Given the description of an element on the screen output the (x, y) to click on. 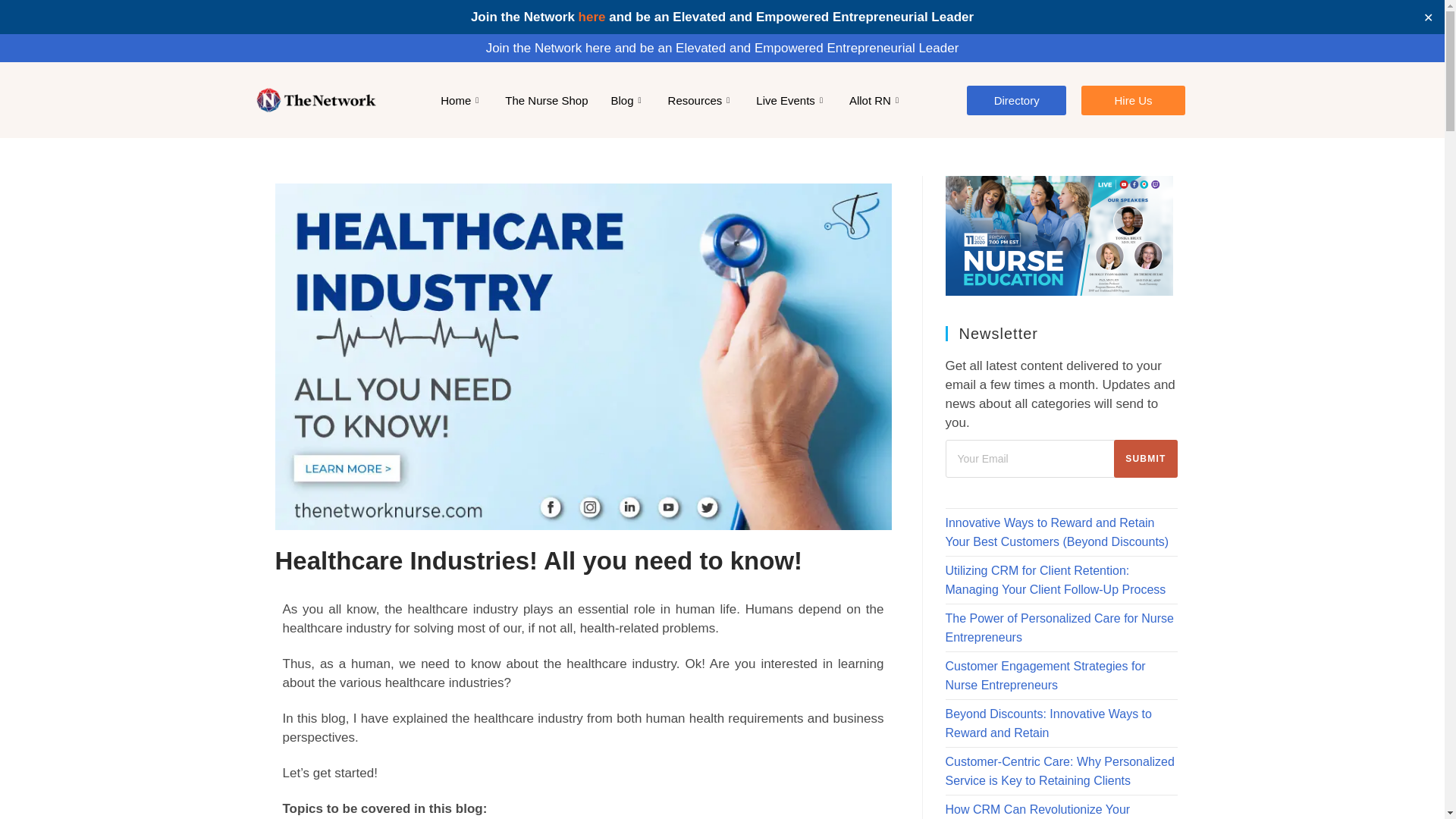
Blog (627, 99)
The Nurse Shop (545, 99)
Live Events (791, 99)
Home (461, 99)
Allot RN (876, 99)
Directory (1015, 99)
Resources (700, 99)
Hire Us (1133, 99)
here (591, 16)
